Given the description of an element on the screen output the (x, y) to click on. 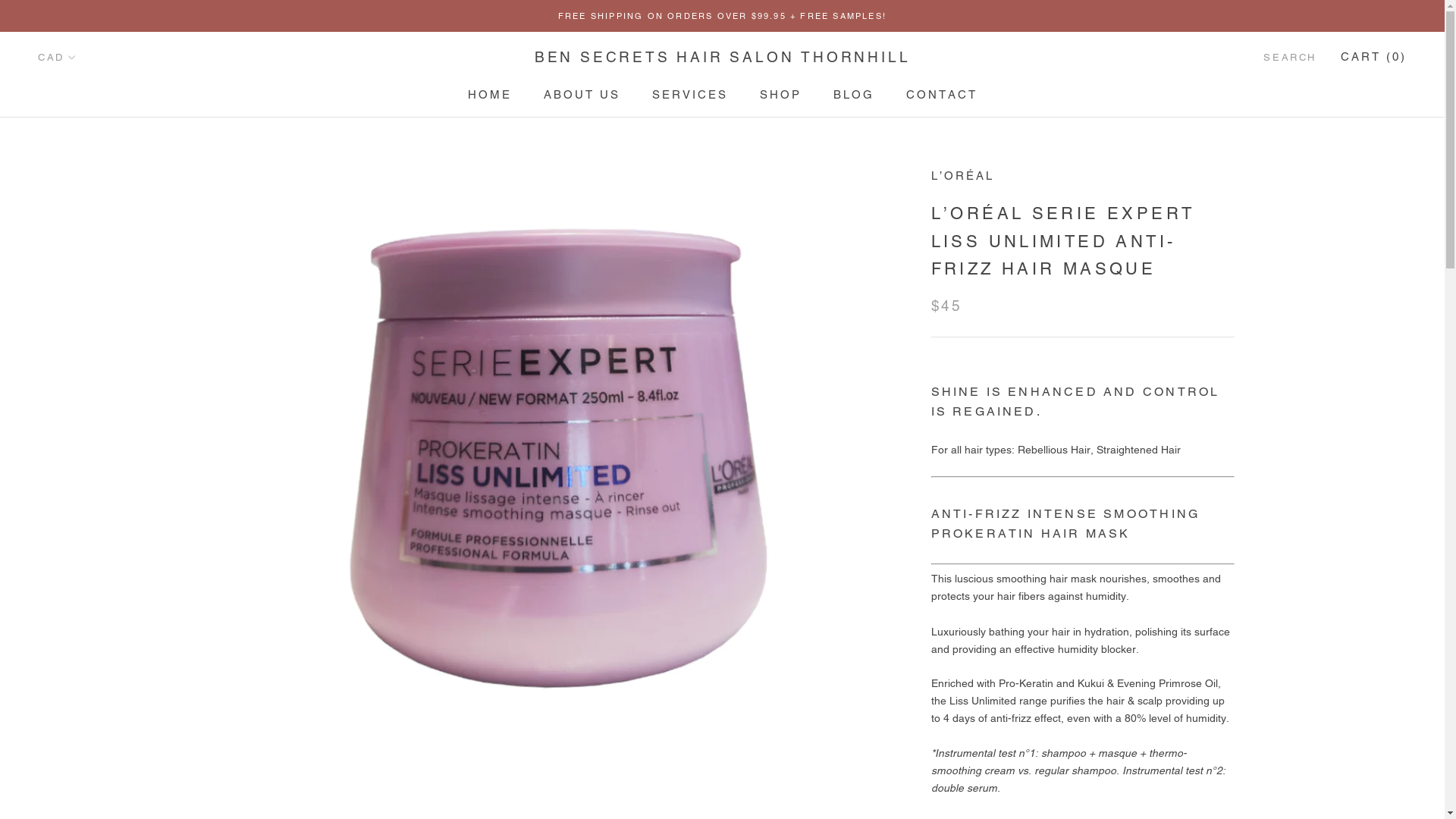
BLOG Element type: text (852, 93)
SEARCH Element type: text (1289, 57)
CONTACT
CONTACT Element type: text (940, 93)
ABOUT US
ABOUT US Element type: text (580, 93)
HOME
HOME Element type: text (489, 93)
CART (0) Element type: text (1373, 56)
BEN SECRETS HAIR SALON THORNHILL Element type: text (722, 57)
SHOP
SHOP Element type: text (780, 93)
SERVICES Element type: text (690, 93)
